Given the description of an element on the screen output the (x, y) to click on. 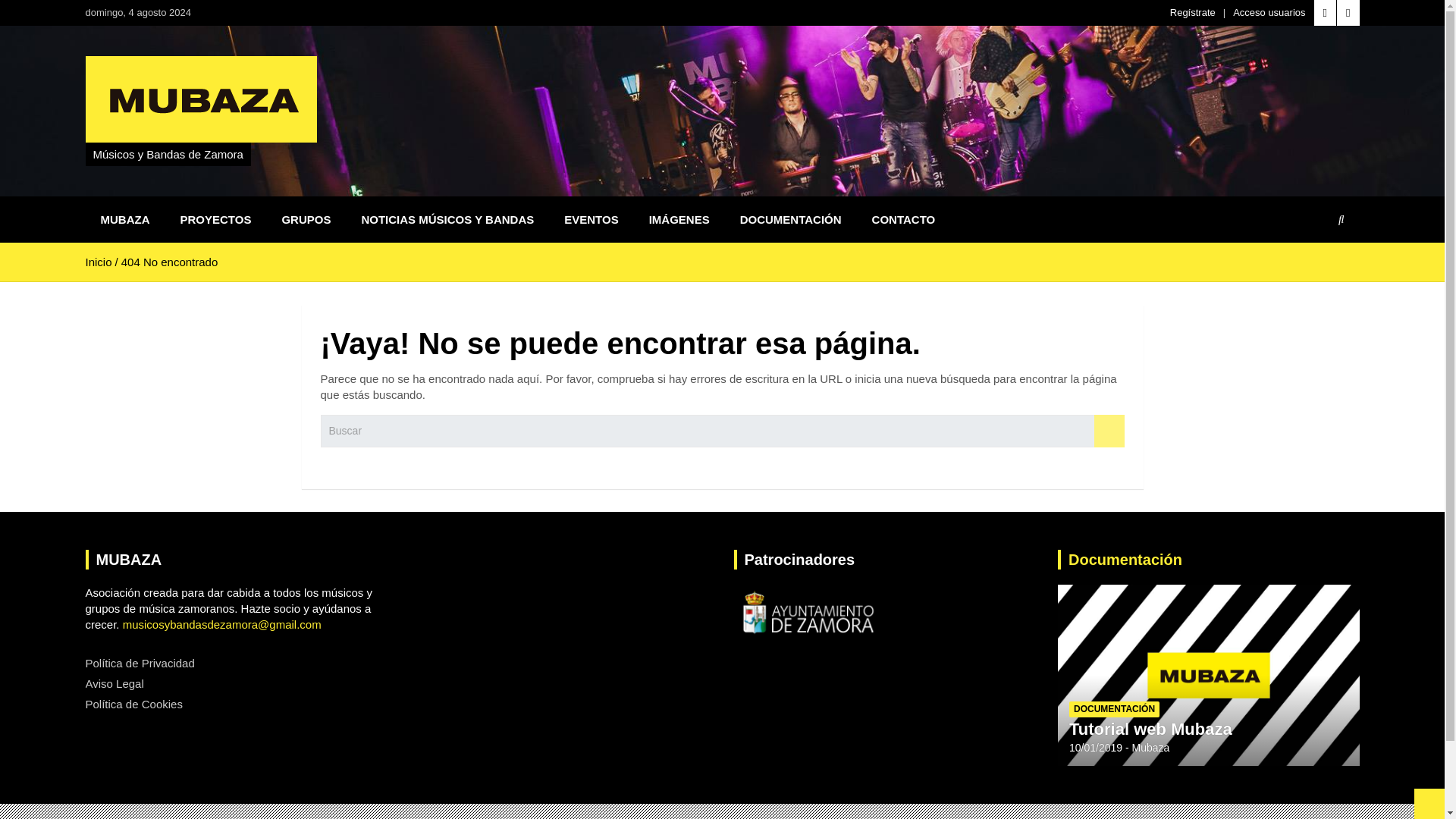
Acceso usuarios (1268, 12)
EVENTOS (590, 219)
Tutorial web Mubaza (1149, 728)
GRUPOS (306, 219)
Mubaza (1151, 747)
PROYECTOS (215, 219)
Inicio (98, 261)
Buscar (1108, 430)
Aviso Legal (113, 683)
CONTACTO (903, 219)
MUBAZA (124, 219)
Tutorial web Mubaza (1095, 747)
